Given the description of an element on the screen output the (x, y) to click on. 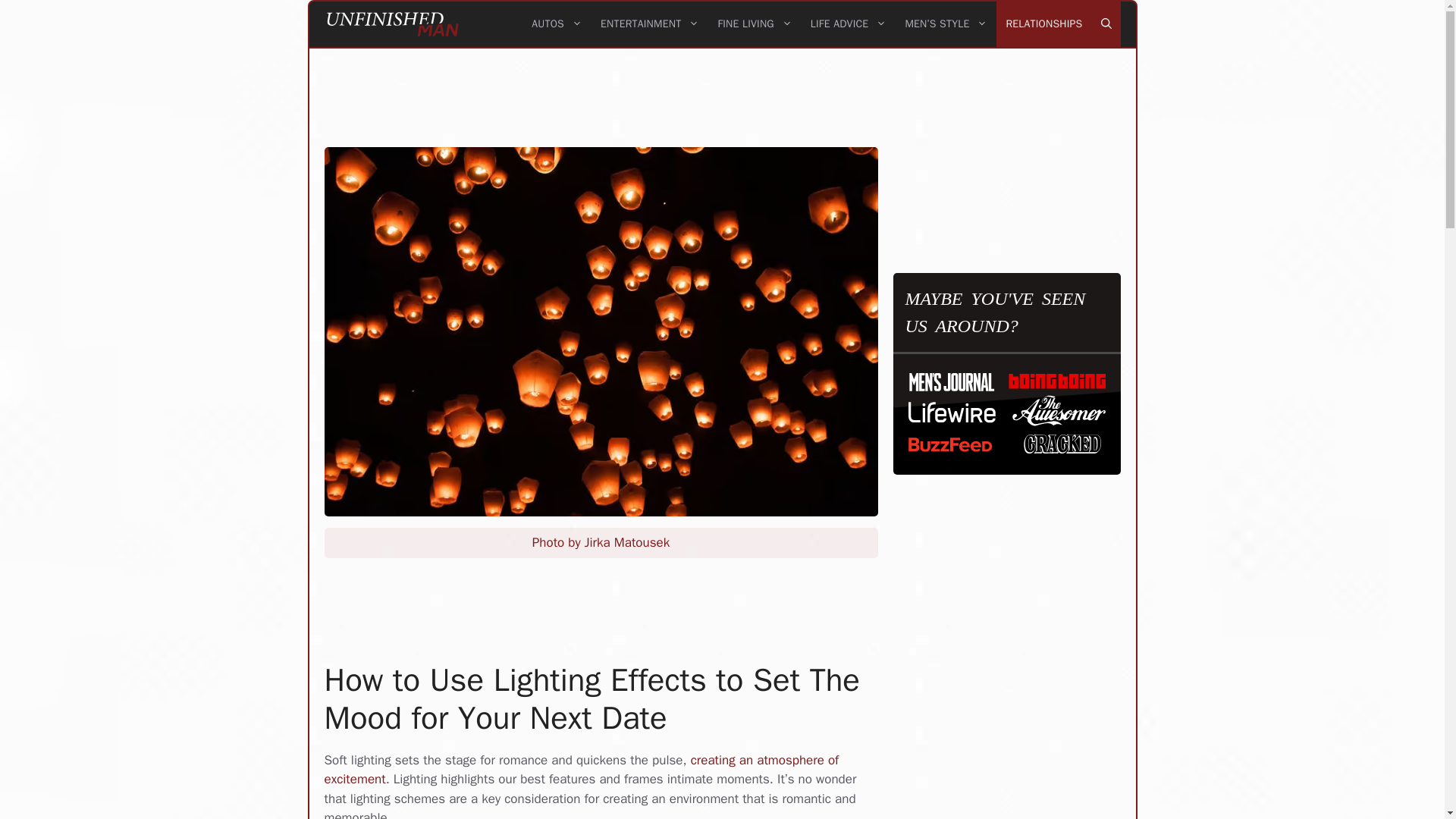
Unfinished Man (392, 23)
AUTOS (556, 23)
ENTERTAINMENT (649, 23)
